Given the description of an element on the screen output the (x, y) to click on. 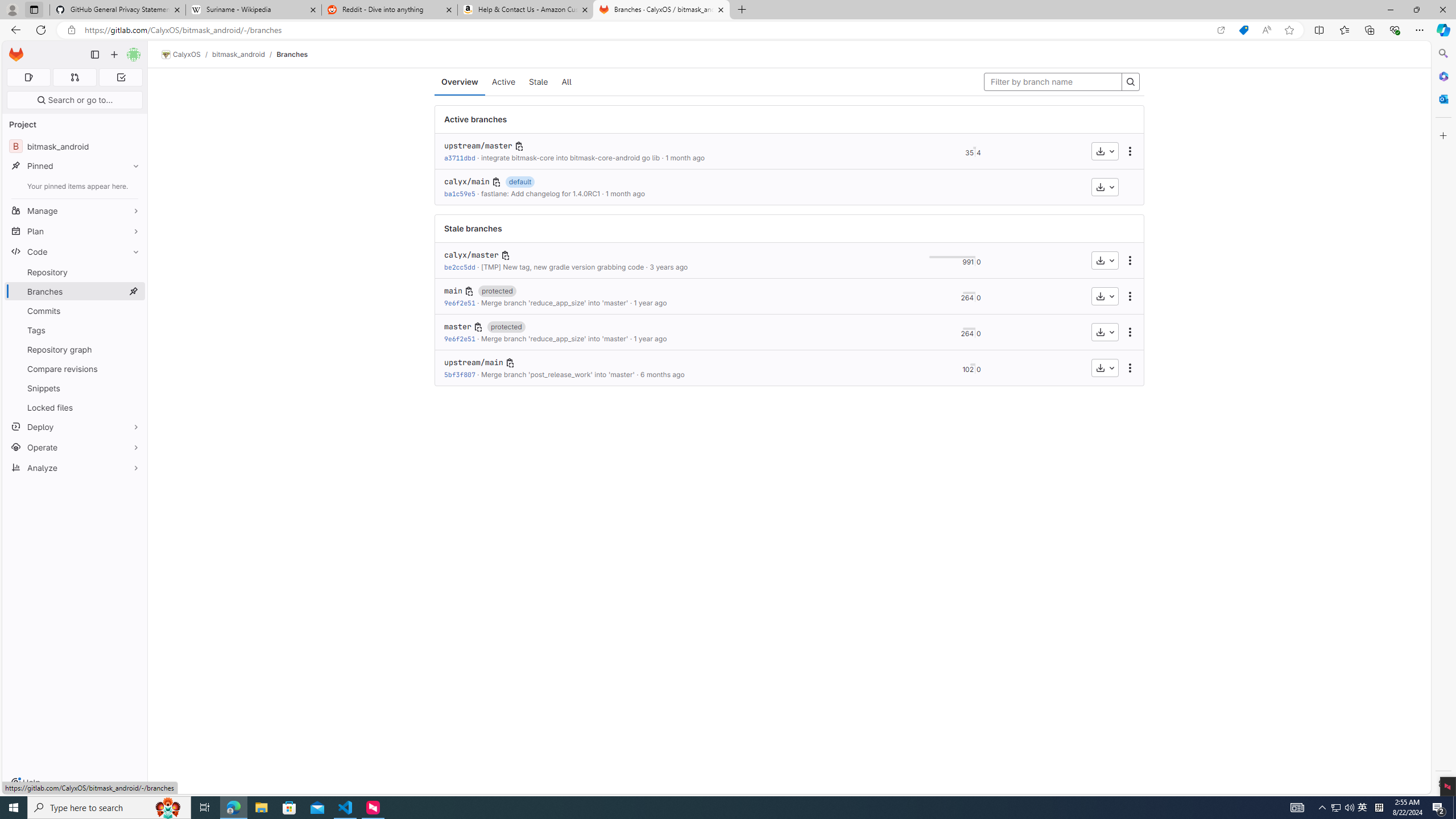
ba1c59e5 (460, 193)
bitmask_android/ (244, 53)
Pin Branches (132, 291)
Close Outlook pane (1442, 98)
Download (1105, 367)
Repository (74, 271)
[TMP] New tag, new gradle version grabbing code (562, 266)
Pin Repository (132, 272)
a3711dbd (460, 157)
Code (74, 251)
Primary navigation sidebar (94, 54)
Settings (1442, 783)
